Given the description of an element on the screen output the (x, y) to click on. 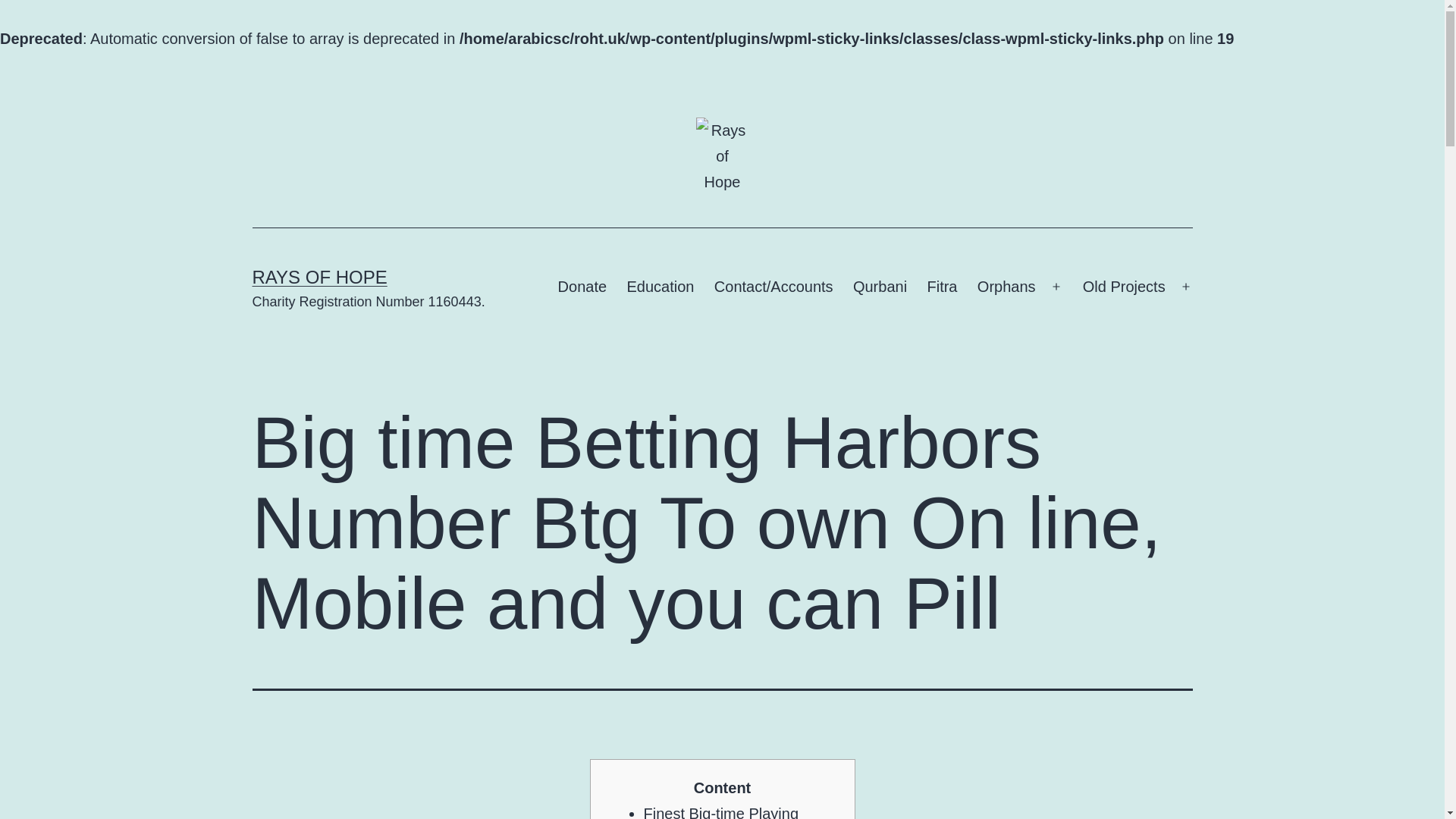
Finest Big-time Playing Harbors Which have Higher Rtp (736, 812)
RAYS OF HOPE (319, 276)
Old Projects (1123, 286)
Qurbani (880, 286)
Fitra (941, 286)
Donate (581, 286)
Education (659, 286)
Orphans (1006, 286)
